Given the description of an element on the screen output the (x, y) to click on. 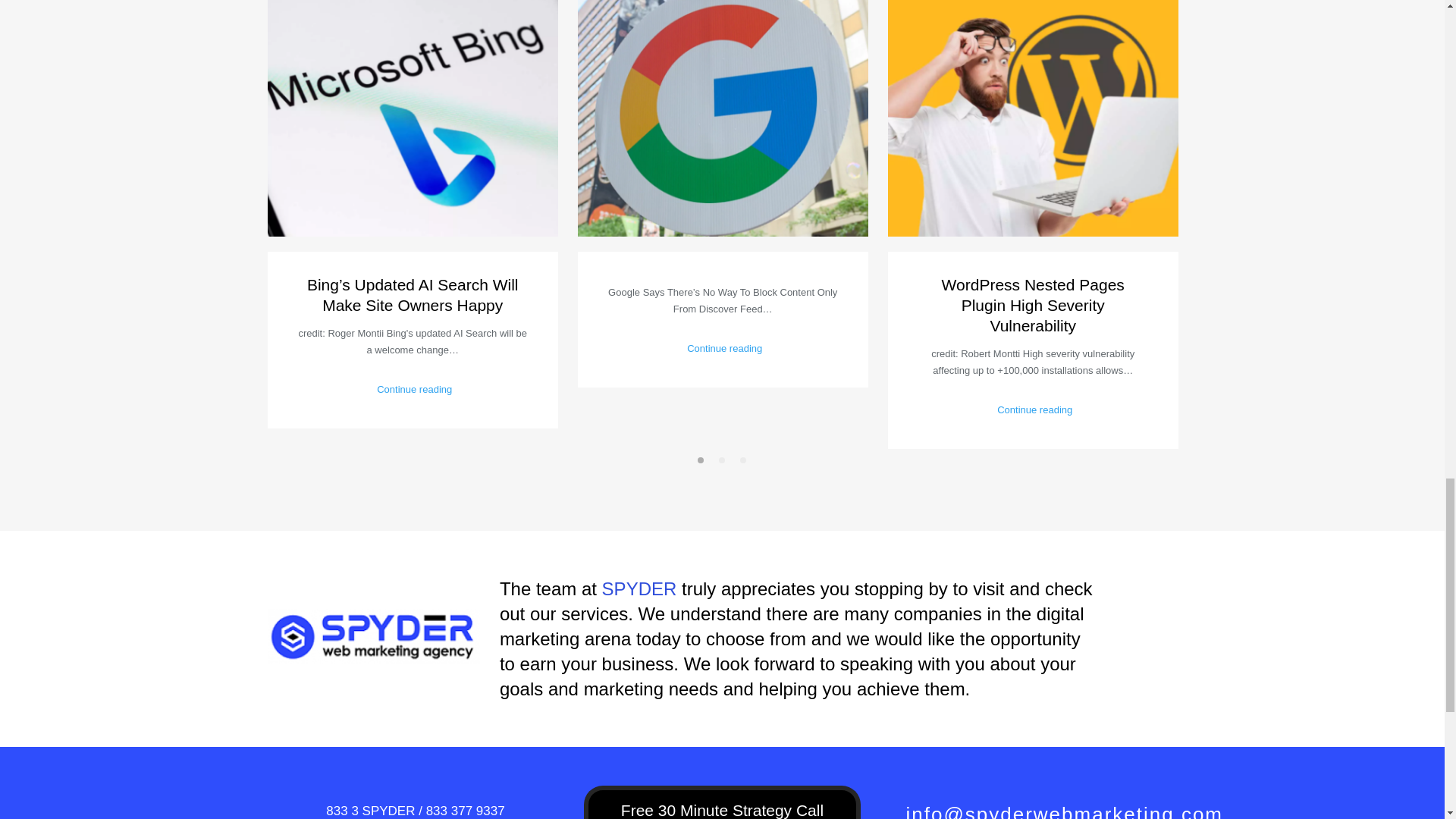
Screenshot 2024-07-09 092355 (1031, 118)
Screenshot 2024-07-17 092007 (722, 118)
Screenshot 2024-07-25 083923 (411, 118)
